Given the description of an element on the screen output the (x, y) to click on. 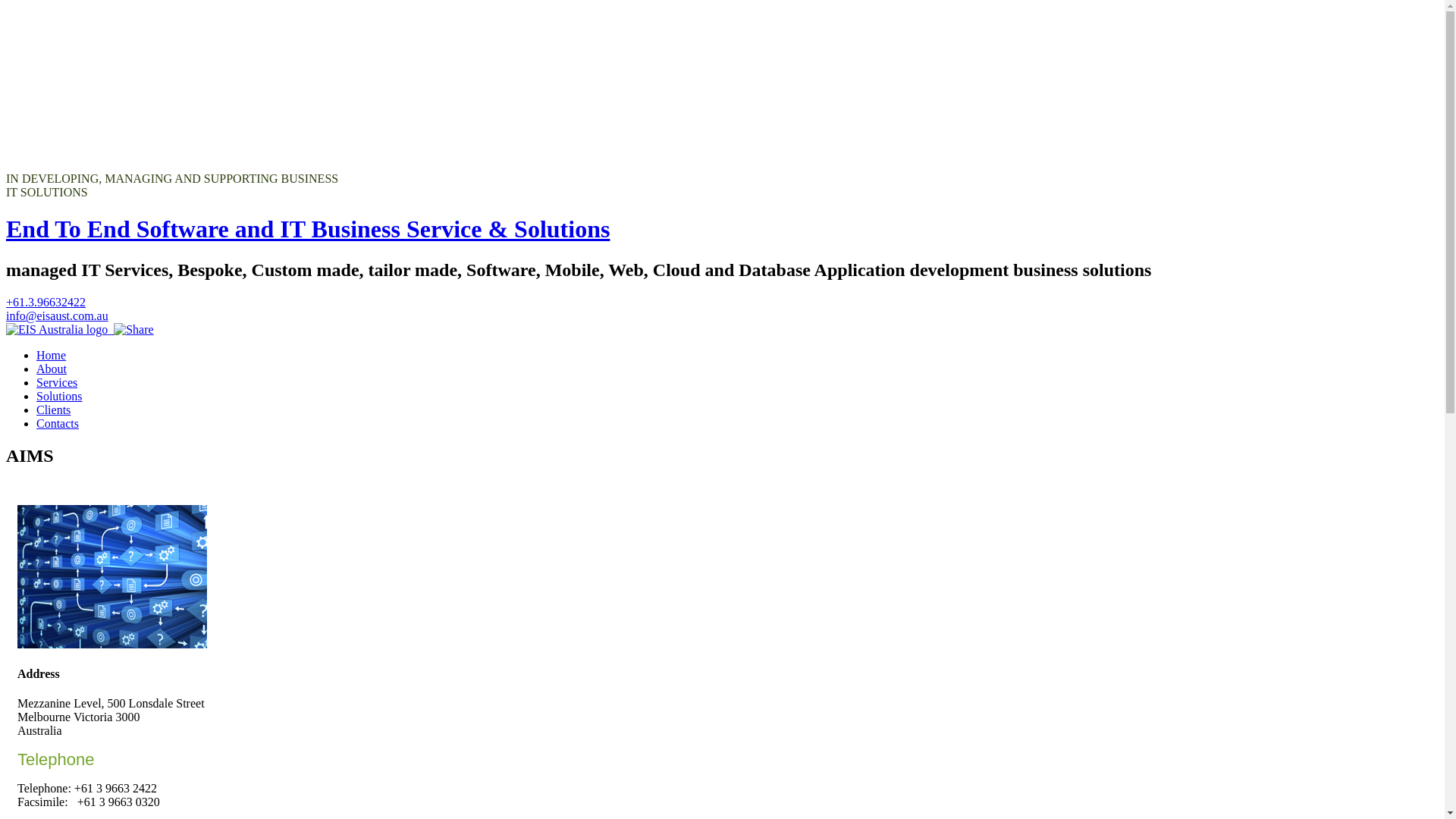
Services Element type: text (56, 382)
Contact EIS Australia Element type: hover (58, 329)
info@eisaust.com.au Element type: text (57, 315)
Print this page. Element type: hover (111, 329)
Home Element type: text (50, 354)
Share this site via email Element type: hover (133, 329)
+61.3.96632422 Element type: text (45, 301)
Contacts Element type: text (57, 423)
About Element type: text (51, 368)
Solutions Element type: text (58, 395)
End To End Software and IT Business Service & Solutions Element type: text (307, 228)
Clients Element type: text (53, 409)
